Given the description of an element on the screen output the (x, y) to click on. 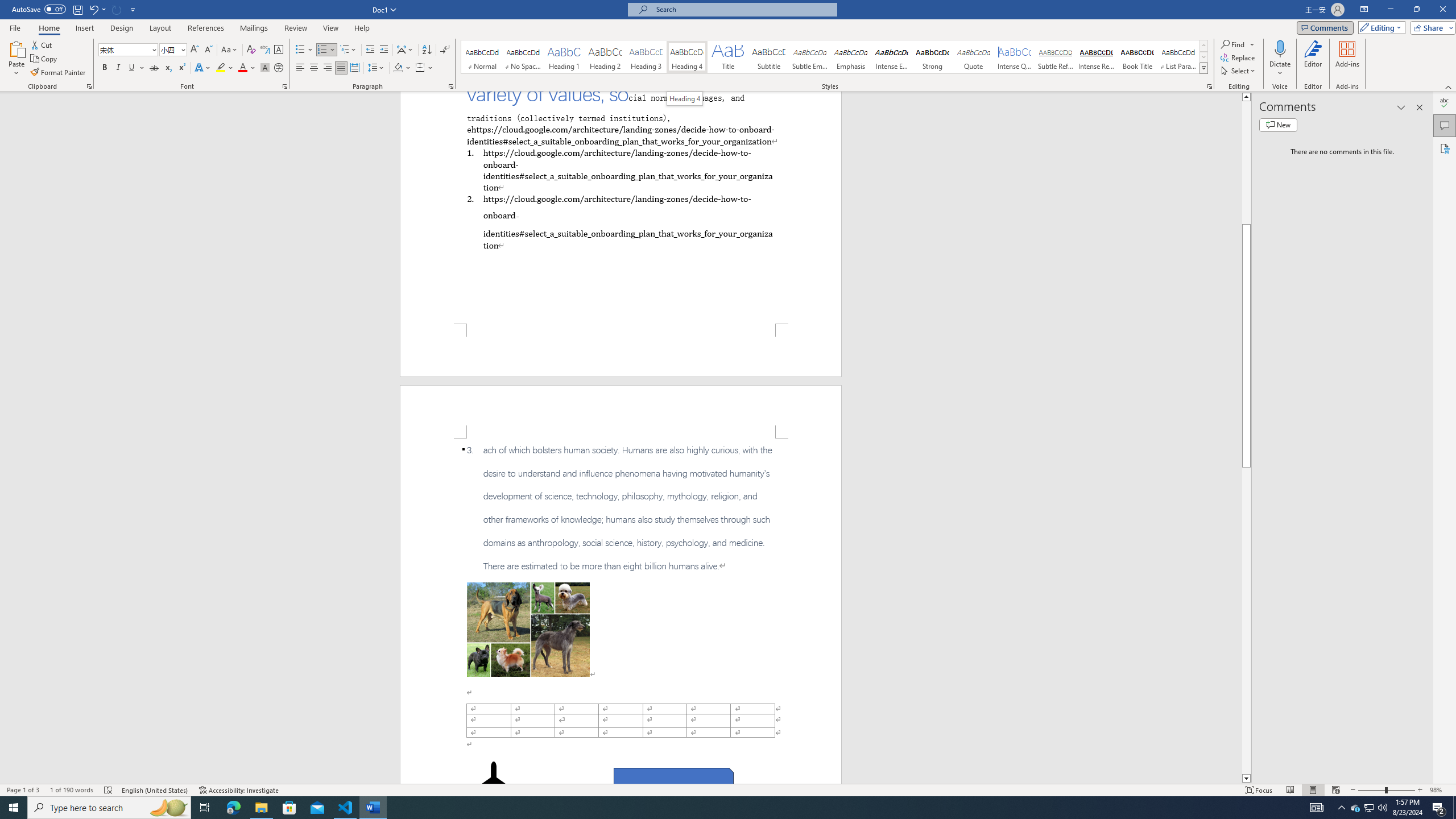
Decrease Indent (370, 49)
Row up (1203, 45)
Open (182, 49)
Comments (1325, 27)
Page down (1245, 620)
Borders (419, 67)
Heading 3 (646, 56)
AutomationID: QuickStylesGallery (834, 56)
Zoom Out (1371, 790)
Grow Font (193, 49)
Change Case (229, 49)
Page 2 content (620, 610)
Font (128, 49)
Undo Apply Quick Style (92, 9)
Page 1 content (620, 207)
